Given the description of an element on the screen output the (x, y) to click on. 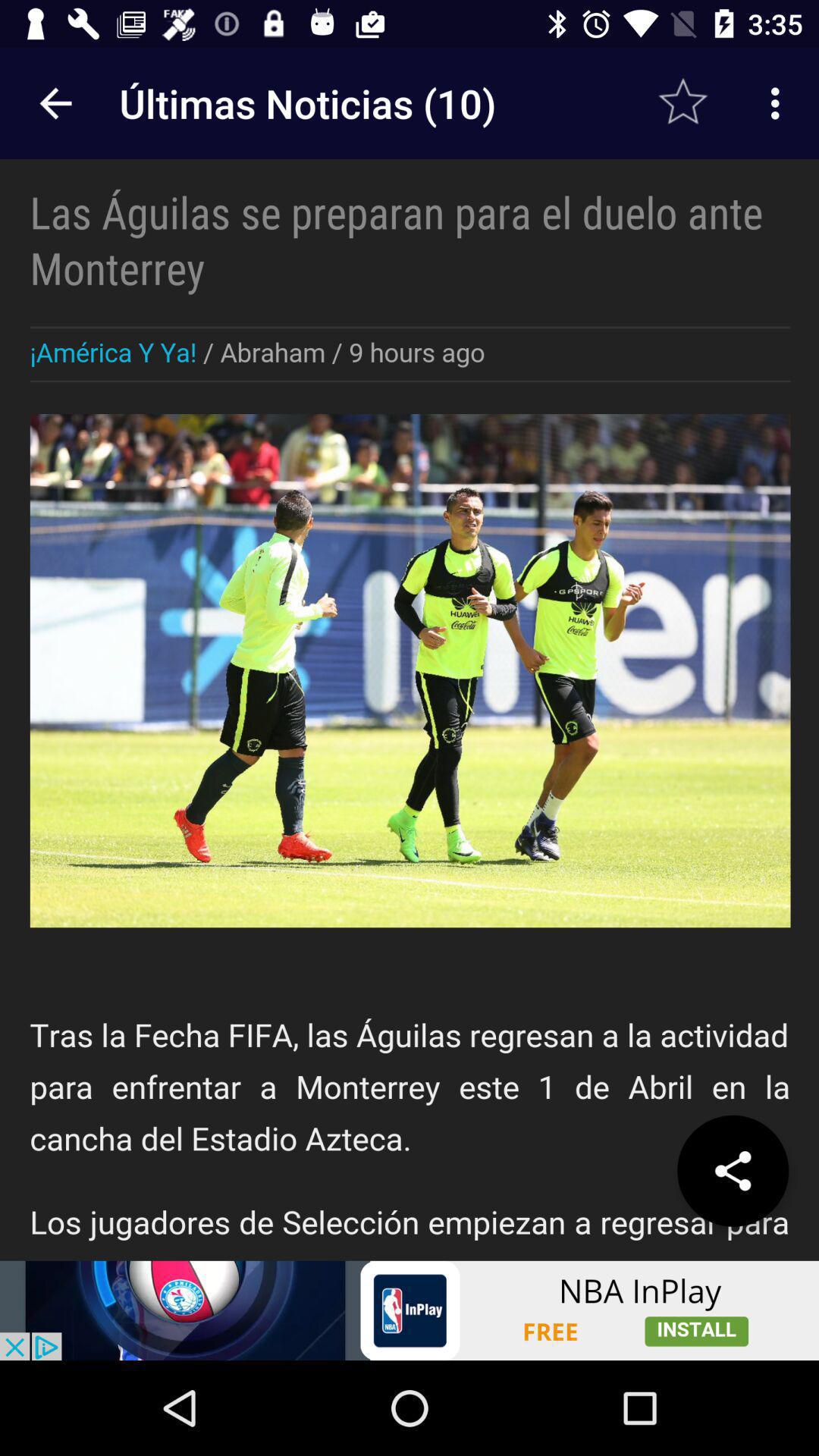
share the article (733, 1171)
